Given the description of an element on the screen output the (x, y) to click on. 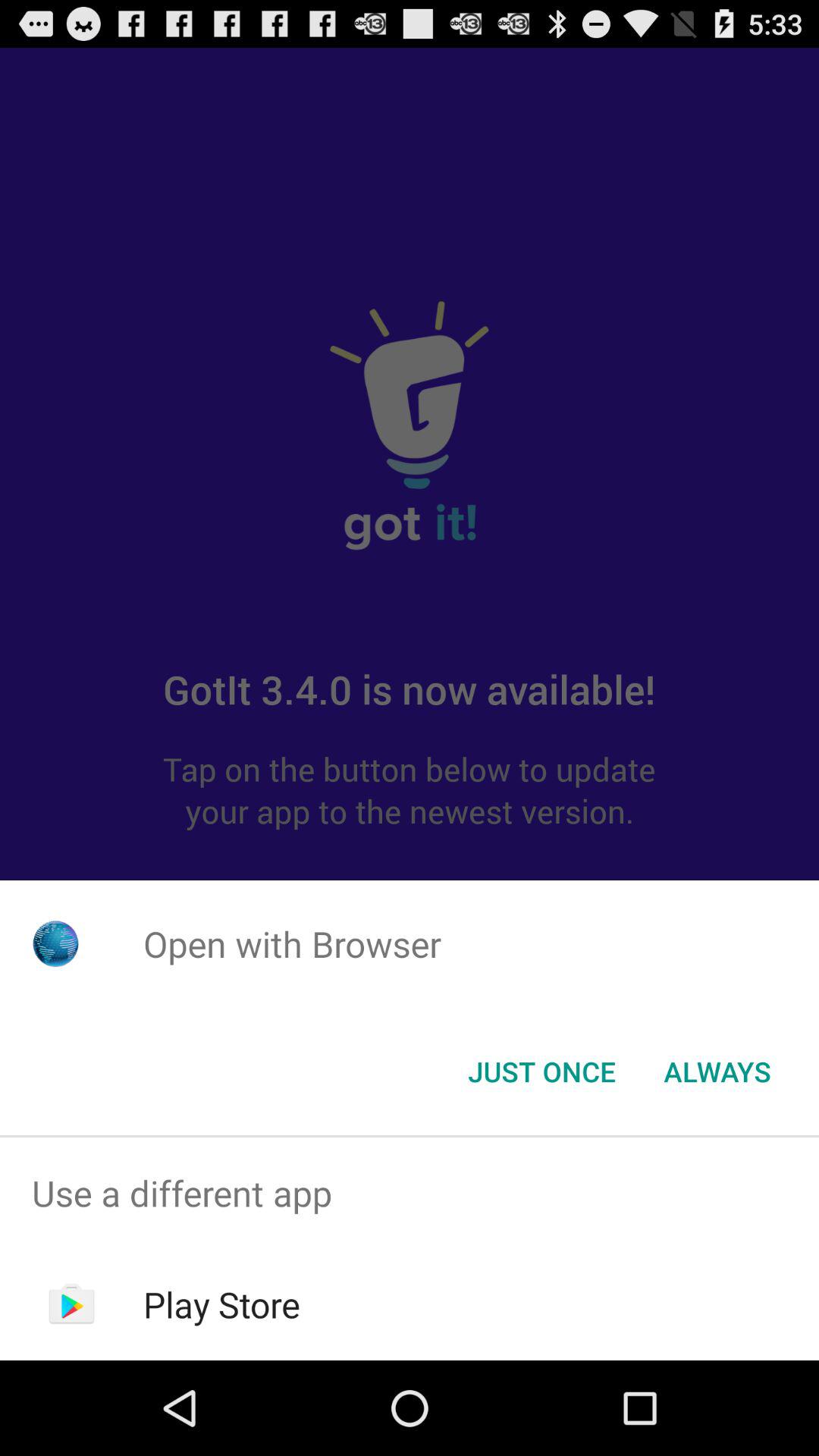
press item to the left of the always item (541, 1071)
